Given the description of an element on the screen output the (x, y) to click on. 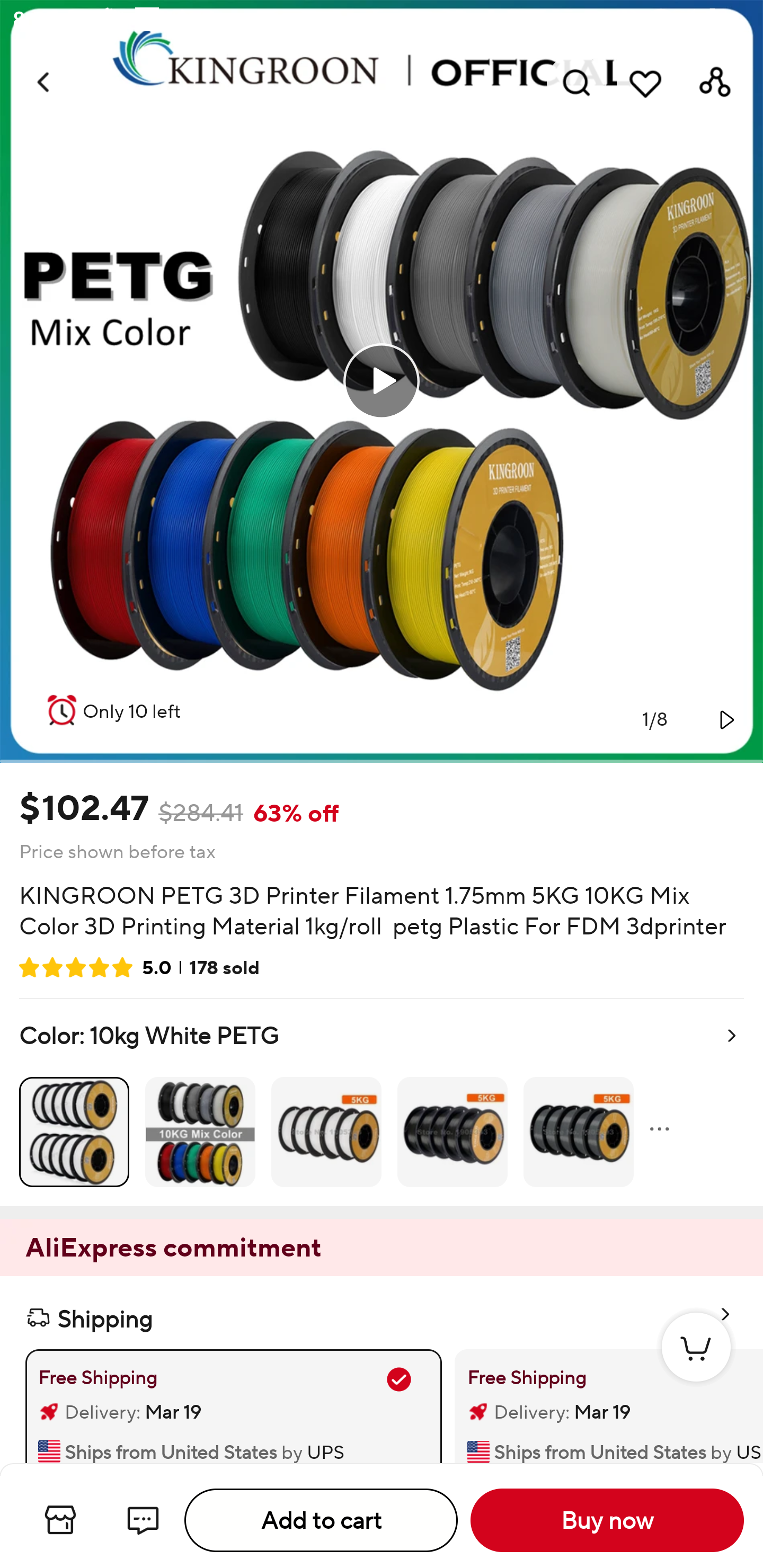
0.0 (381, 381)
Navigate up (44, 82)
 (724, 719)
Color: 10kg White PETG  (381, 1101)
Add to cart (320, 1520)
Buy now (606, 1520)
